Given the description of an element on the screen output the (x, y) to click on. 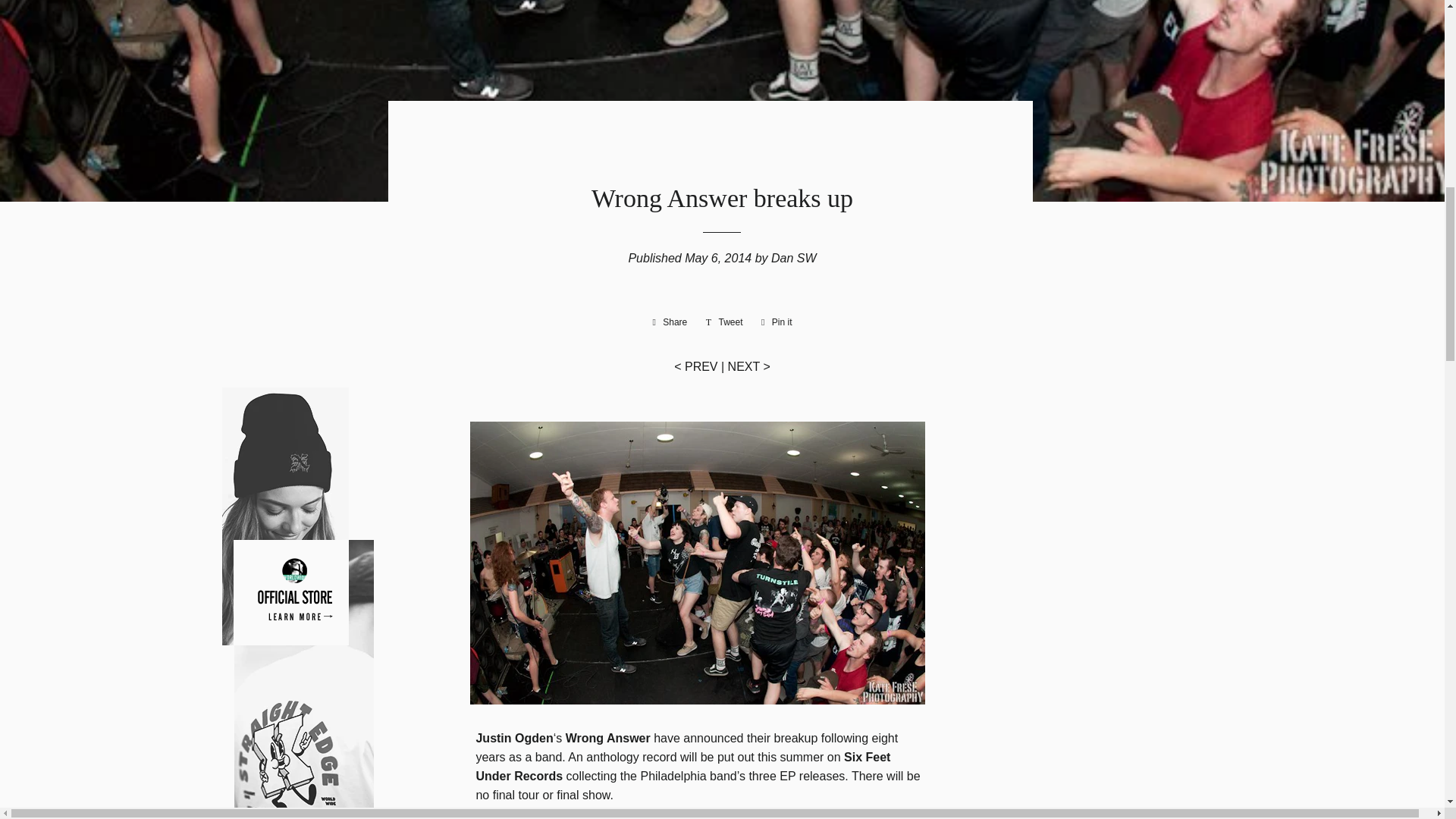
Share on Facebook (669, 321)
Pin on Pinterest (776, 321)
Tweet on Twitter (724, 321)
